Given the description of an element on the screen output the (x, y) to click on. 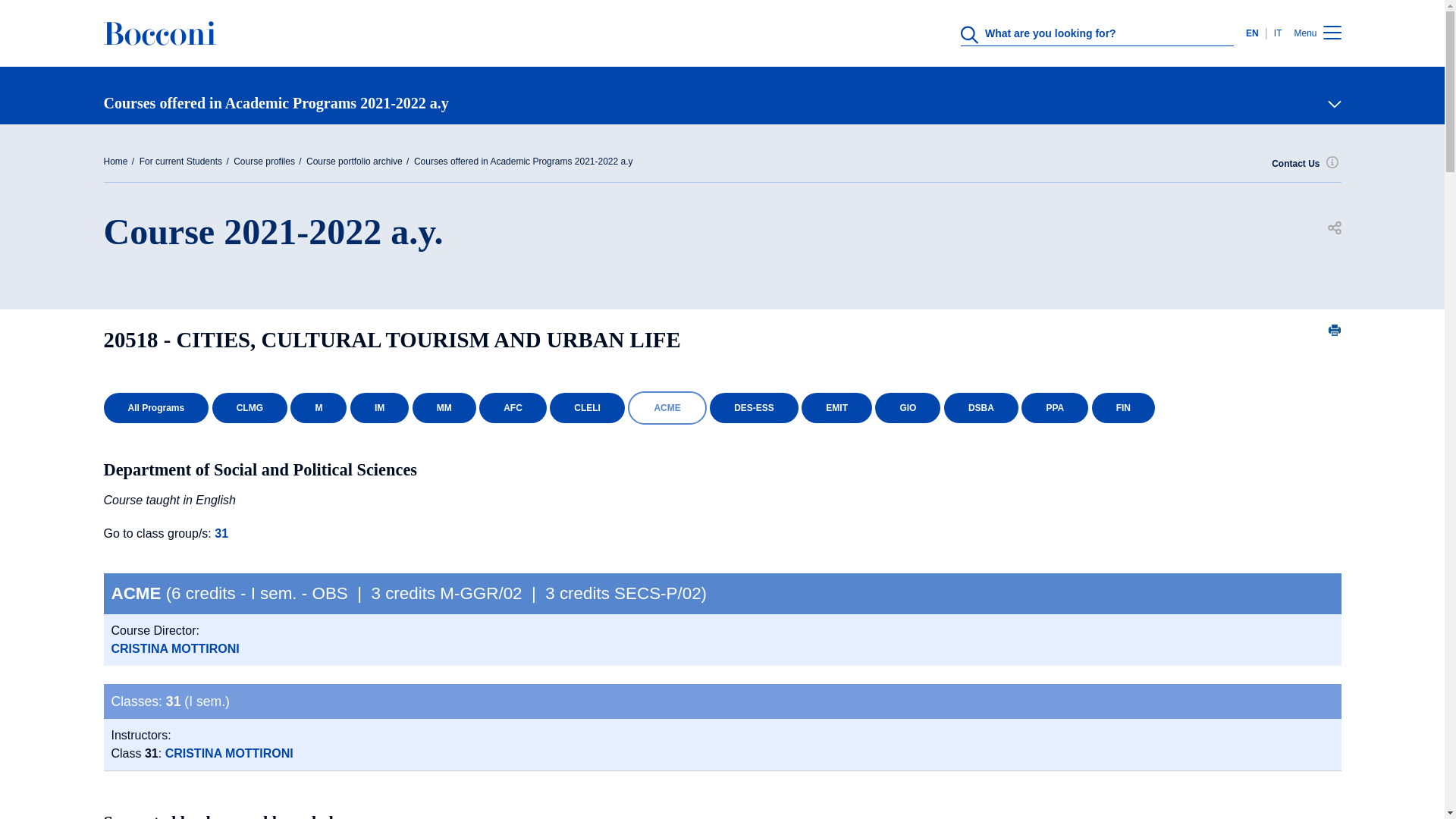
English (1255, 33)
IT (1275, 33)
About Us (716, 328)
Programs (716, 402)
Home (159, 33)
Applying to Bocconi (716, 625)
EN (1255, 33)
Faculty and Research (716, 476)
Campus (716, 551)
Italian (1275, 33)
